Given the description of an element on the screen output the (x, y) to click on. 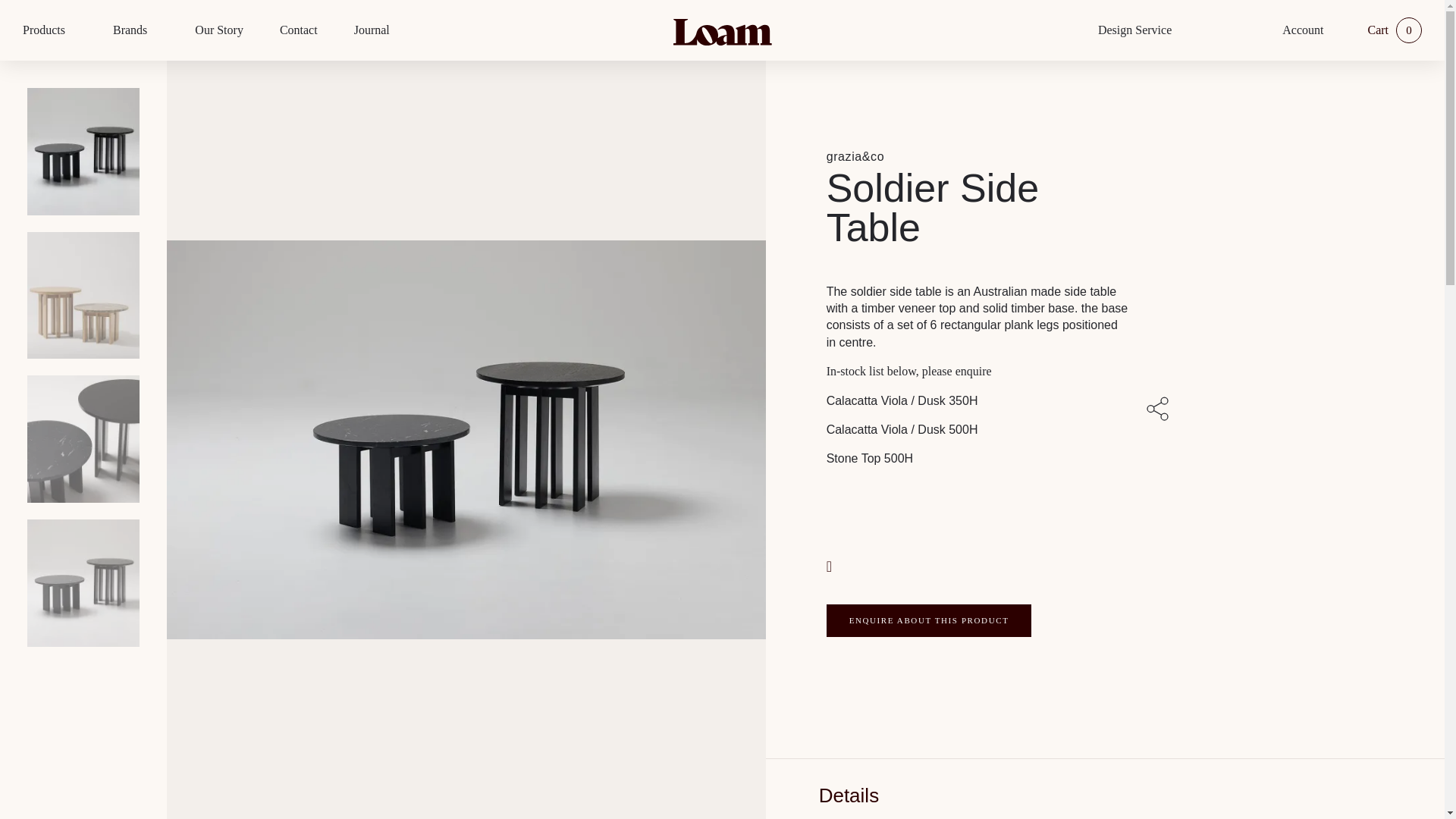
Toggle Menu (72, 29)
